Given the description of an element on the screen output the (x, y) to click on. 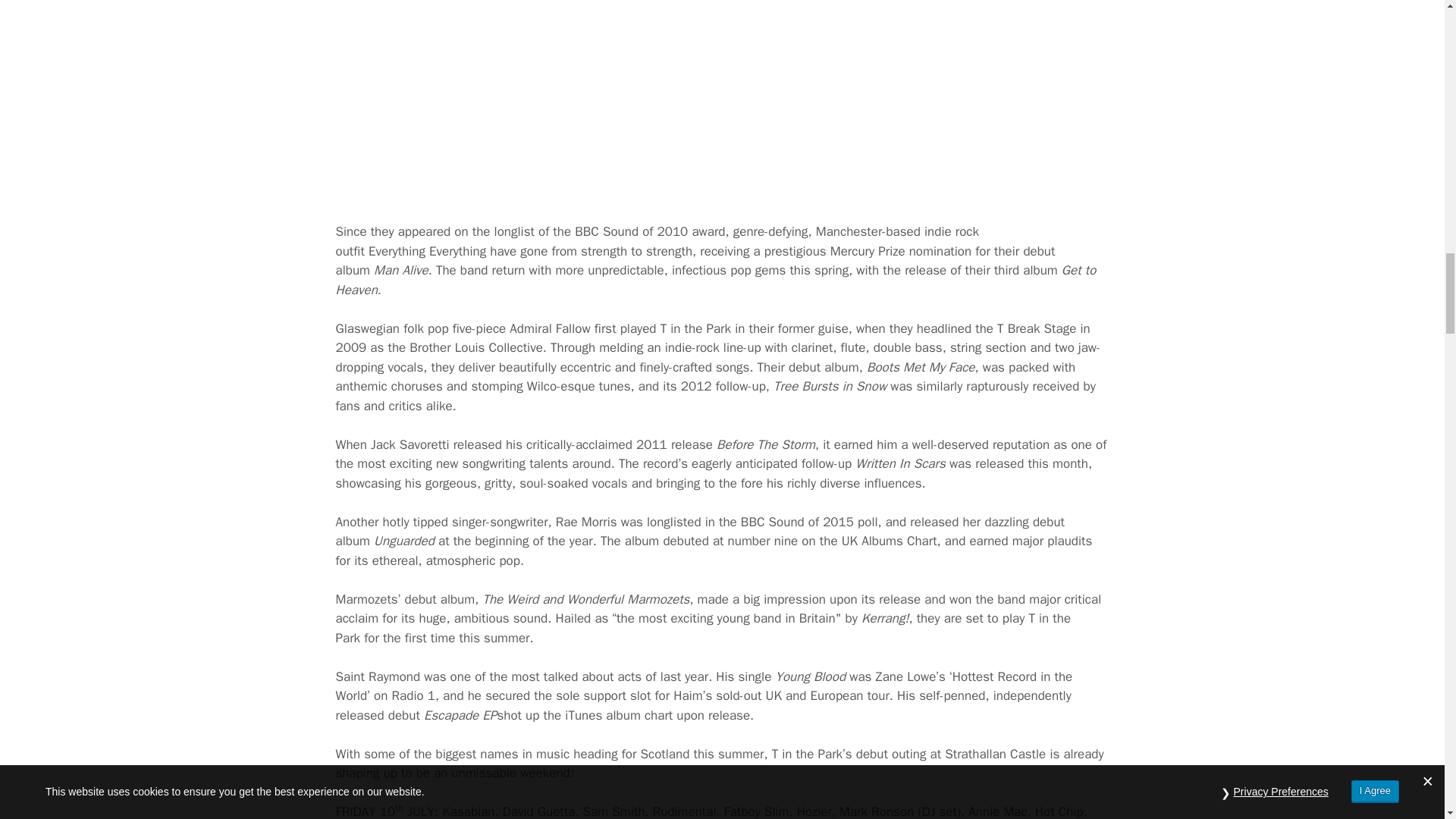
Mark Ronson (722, 98)
